Given the description of an element on the screen output the (x, y) to click on. 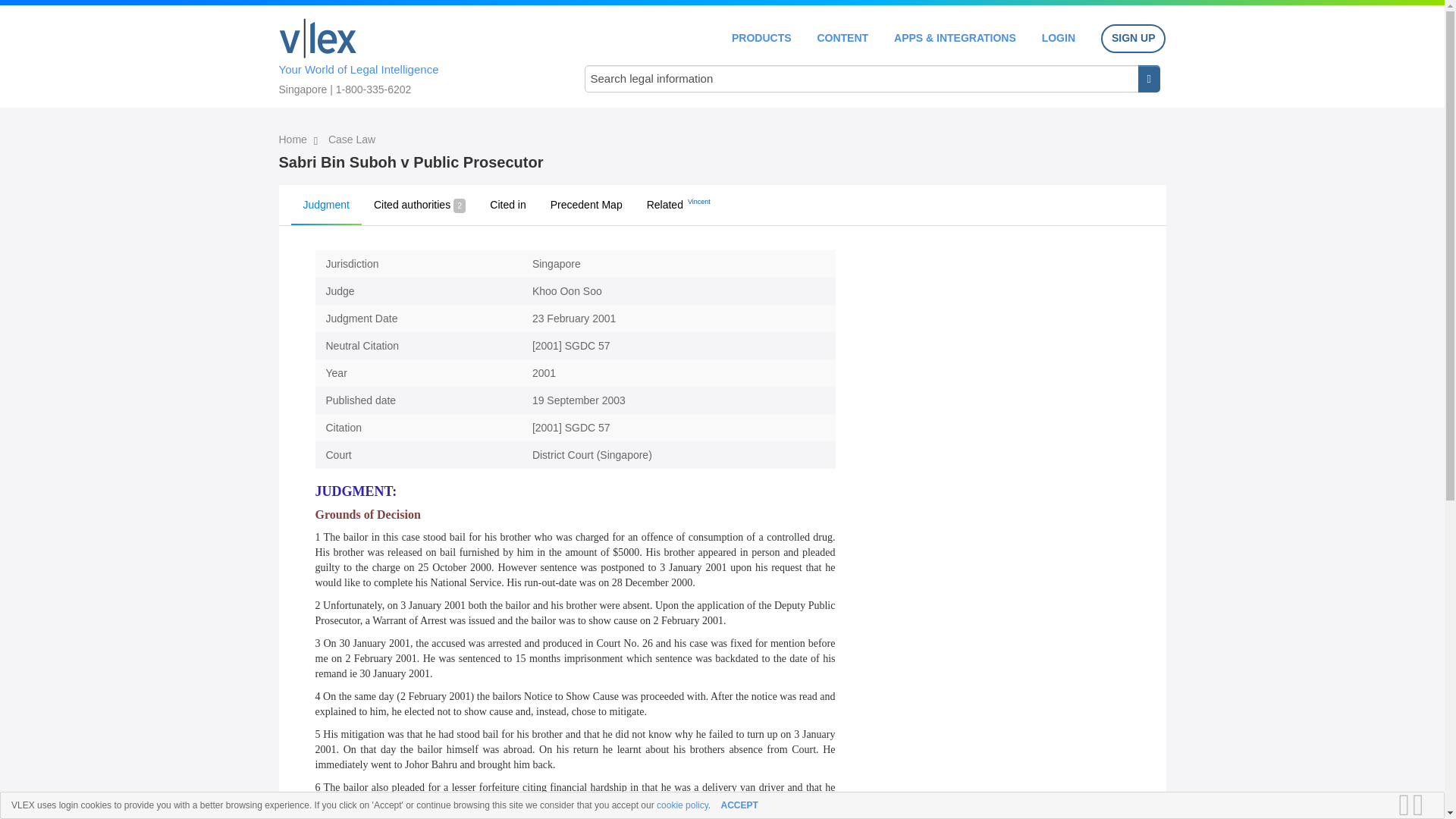
CONTENT (841, 37)
PRODUCTS (762, 37)
Home (294, 139)
CLOSE (1422, 805)
Home (317, 38)
cookie policy (681, 805)
Case Law (352, 139)
LOGIN (1058, 37)
SIGN UP (1133, 38)
ACCEPT (739, 805)
Your World of Legal Intelligence (416, 53)
